Given the description of an element on the screen output the (x, y) to click on. 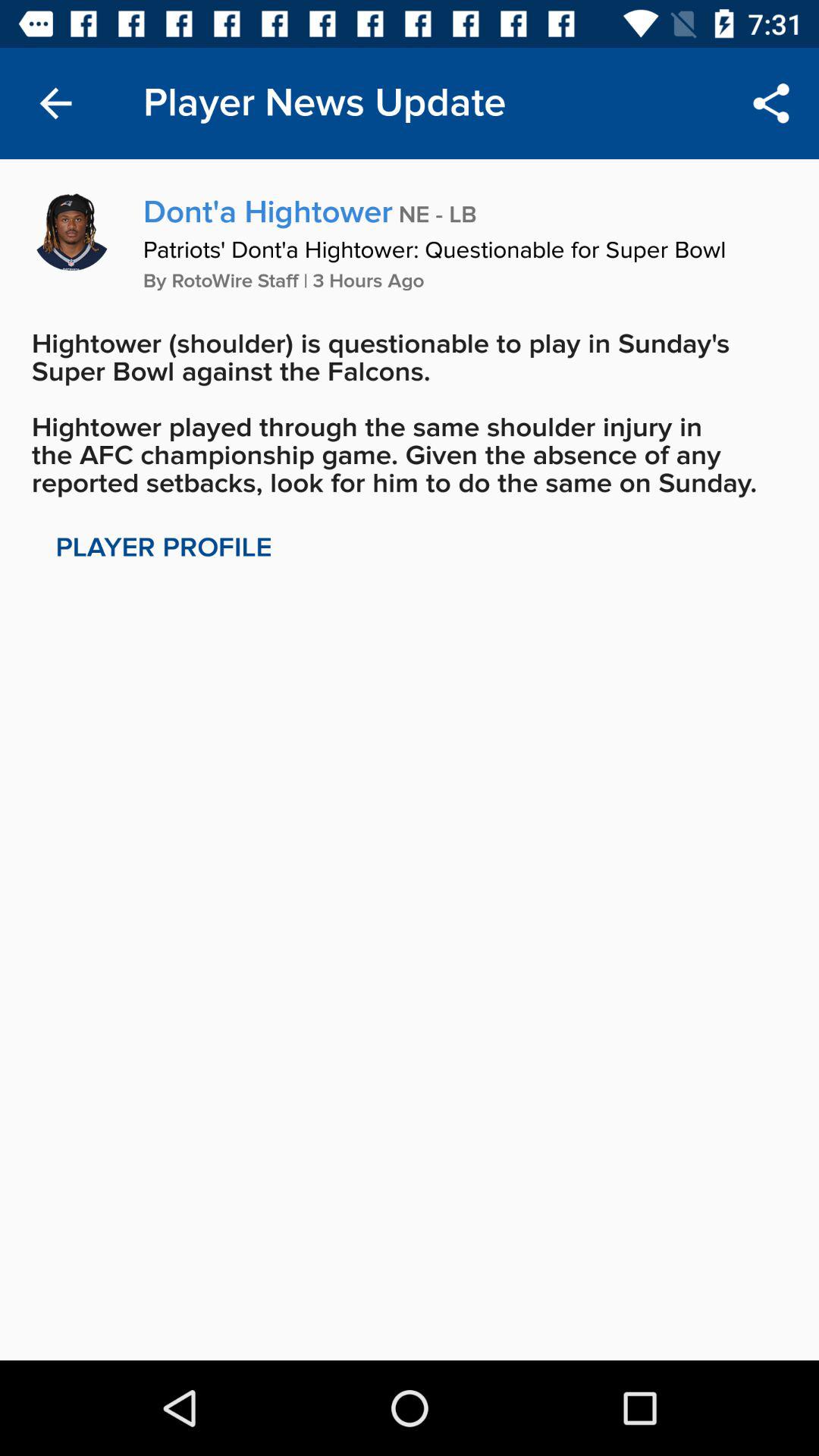
launch item below hightower shoulder is icon (163, 547)
